Given the description of an element on the screen output the (x, y) to click on. 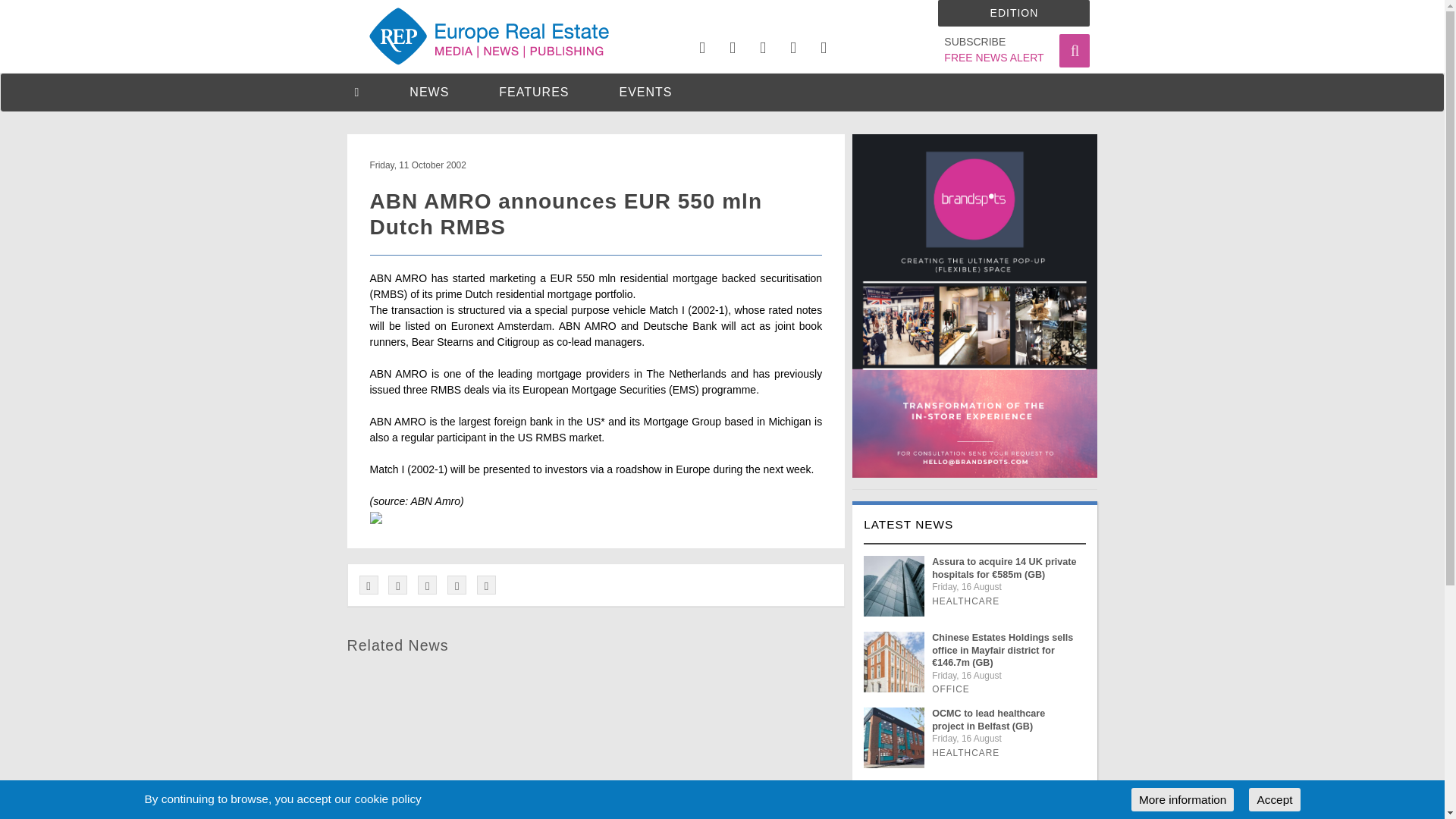
EDITION (1013, 13)
FEATURES (533, 91)
NEWS (428, 91)
